Given the description of an element on the screen output the (x, y) to click on. 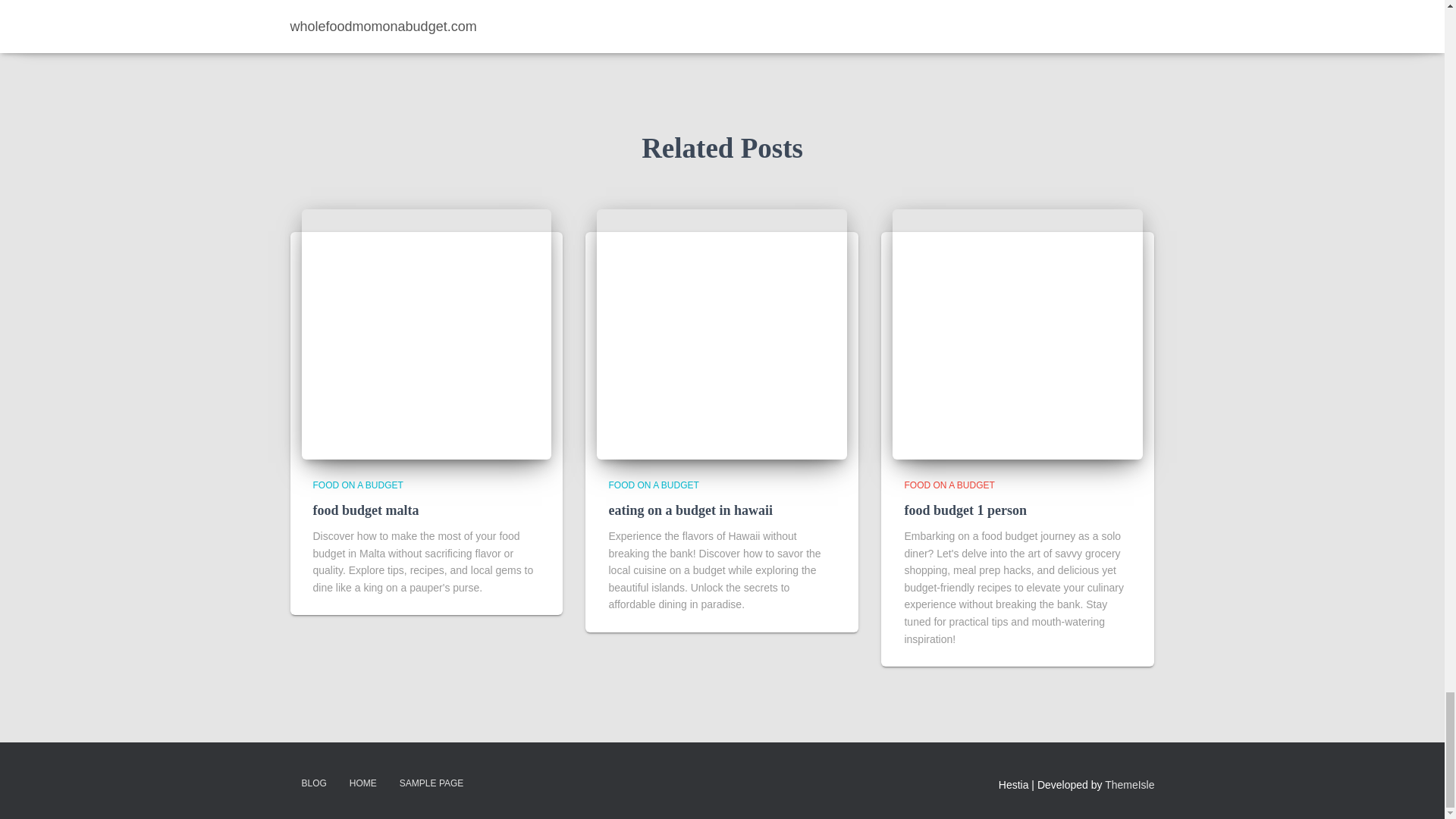
eating on a budget in hawaii (721, 334)
View all posts in Food on a budget (653, 484)
eating on a budget in hawaii (690, 509)
View all posts in Food on a budget (358, 484)
food budget malta (366, 509)
food budget malta (426, 334)
